Given the description of an element on the screen output the (x, y) to click on. 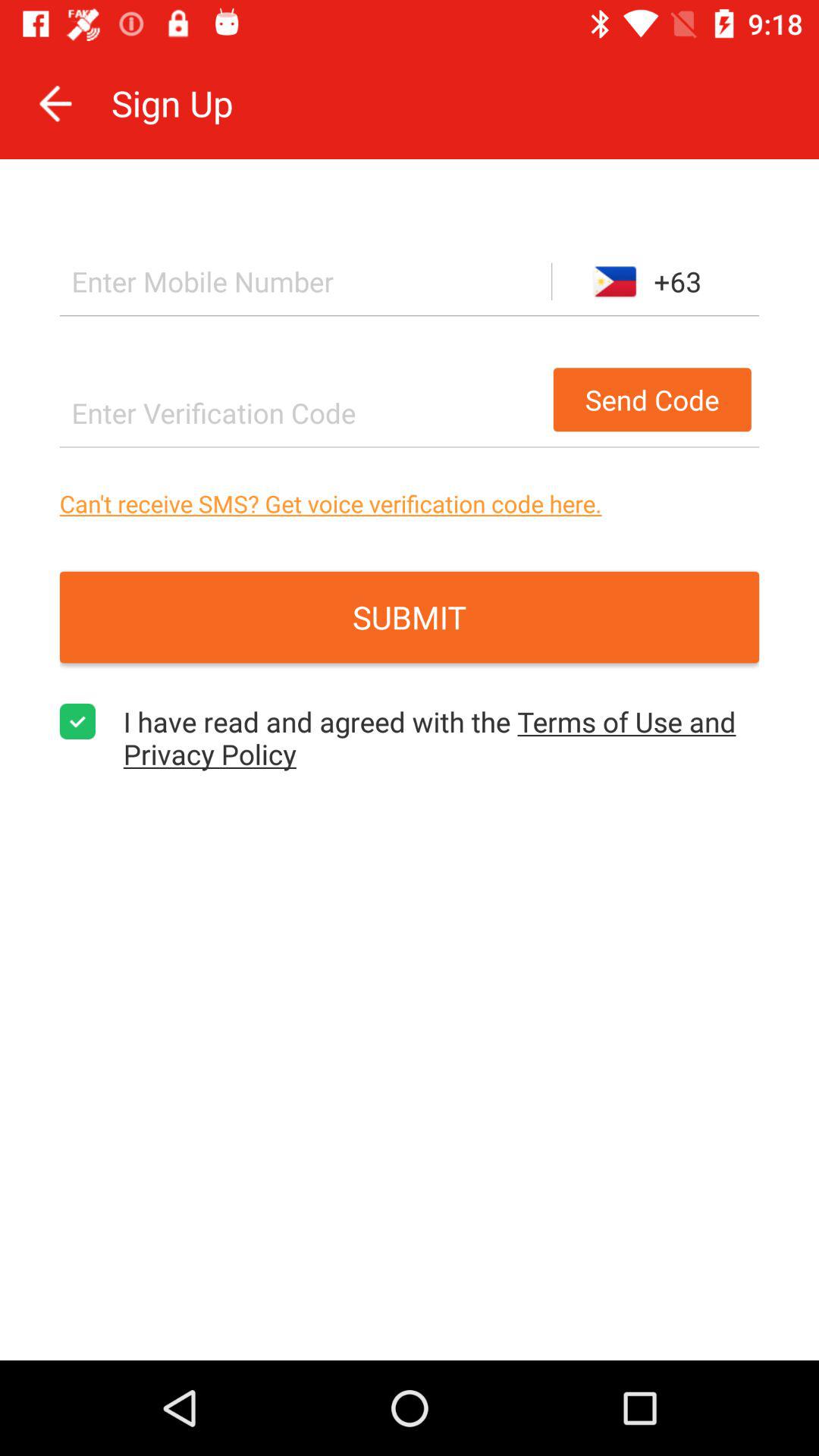
launch the item on the left (77, 721)
